Given the description of an element on the screen output the (x, y) to click on. 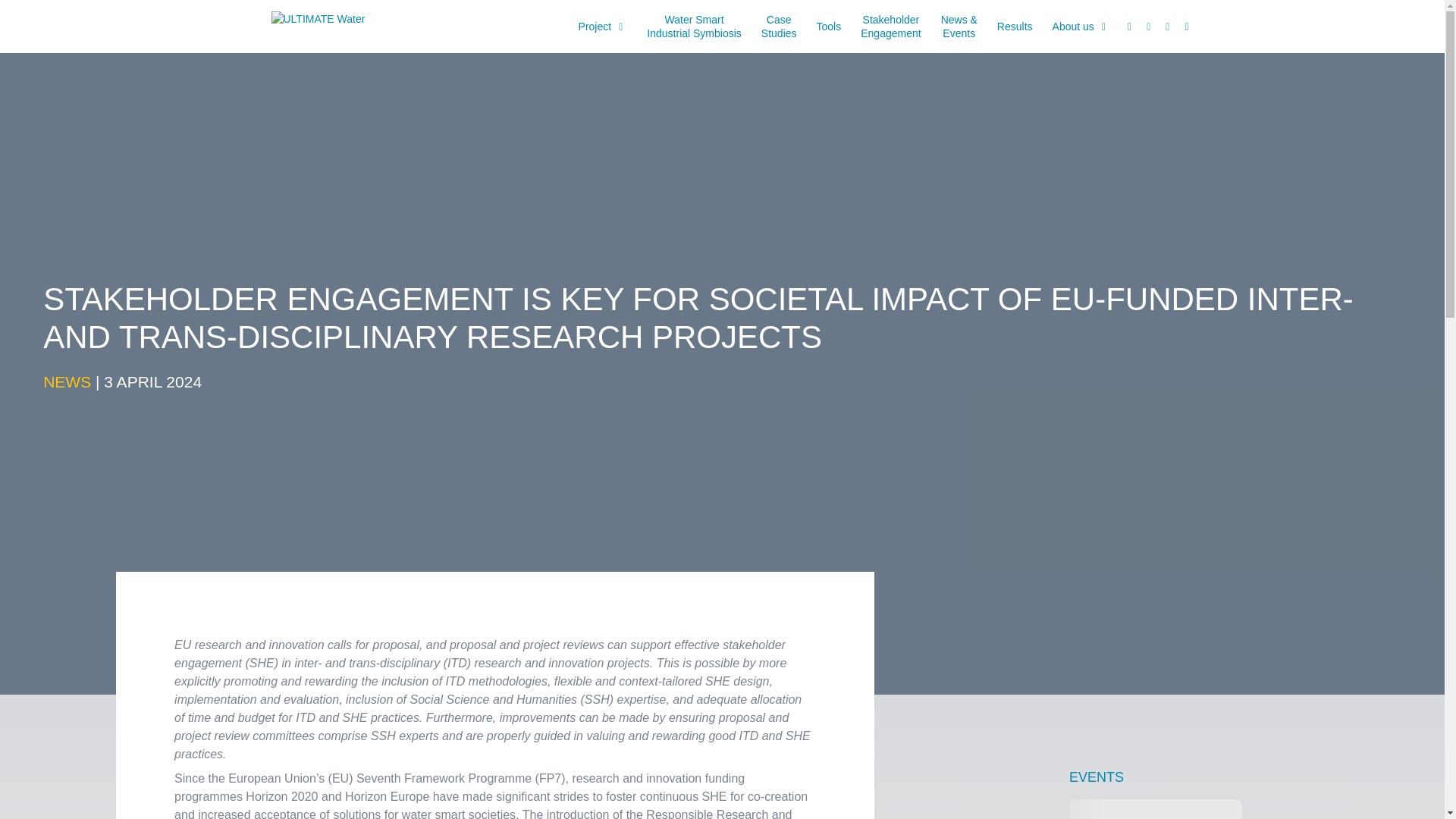
About us (694, 26)
Project (1080, 26)
Results (603, 26)
ULTIMATE Water (1014, 26)
ULTIMATE Water (333, 26)
